Given the description of an element on the screen output the (x, y) to click on. 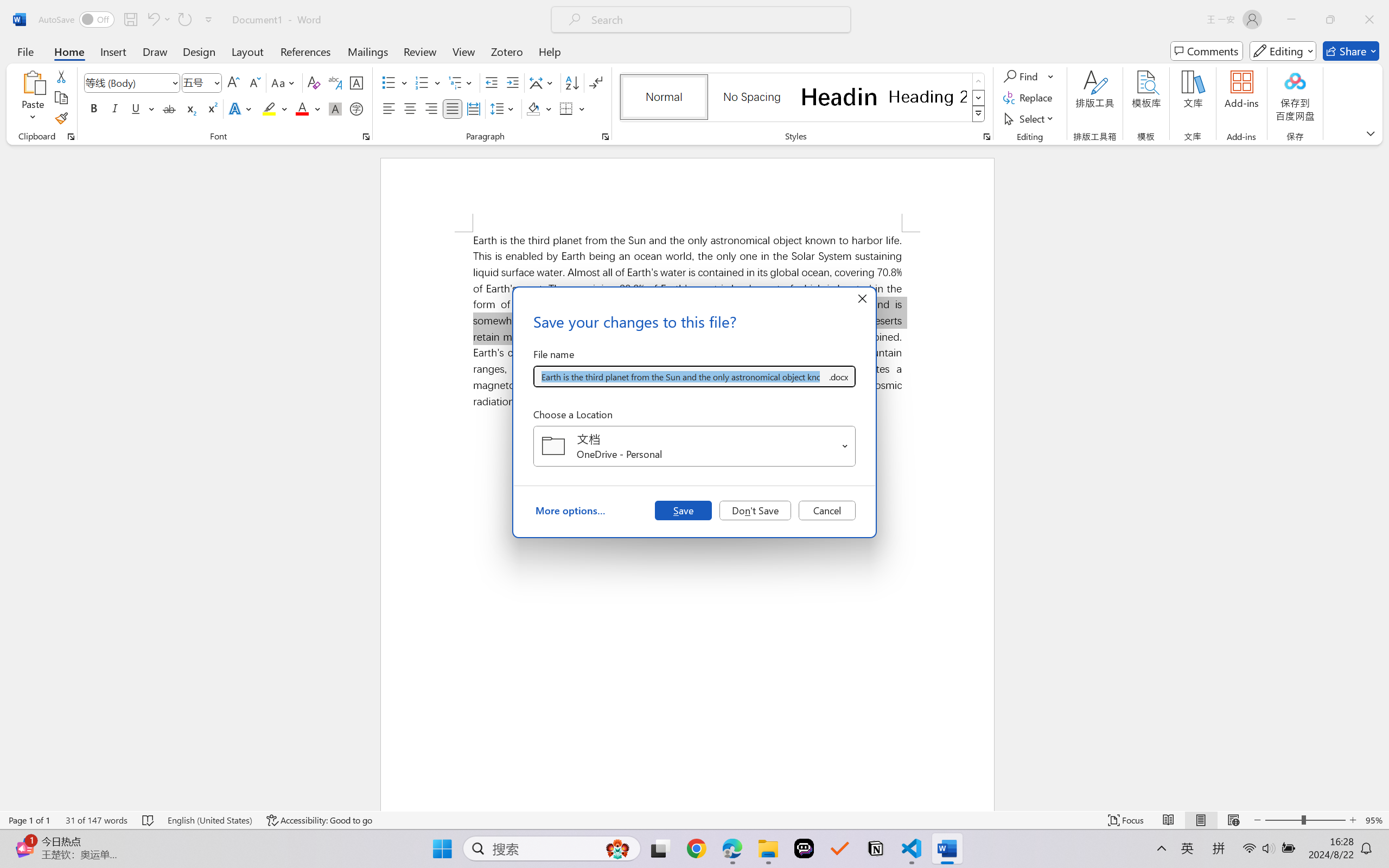
Microsoft search (715, 19)
Distributed (473, 108)
Row up (978, 81)
Italic (115, 108)
Styles (978, 113)
Google Chrome (696, 848)
Phonetic Guide... (334, 82)
